Given the description of an element on the screen output the (x, y) to click on. 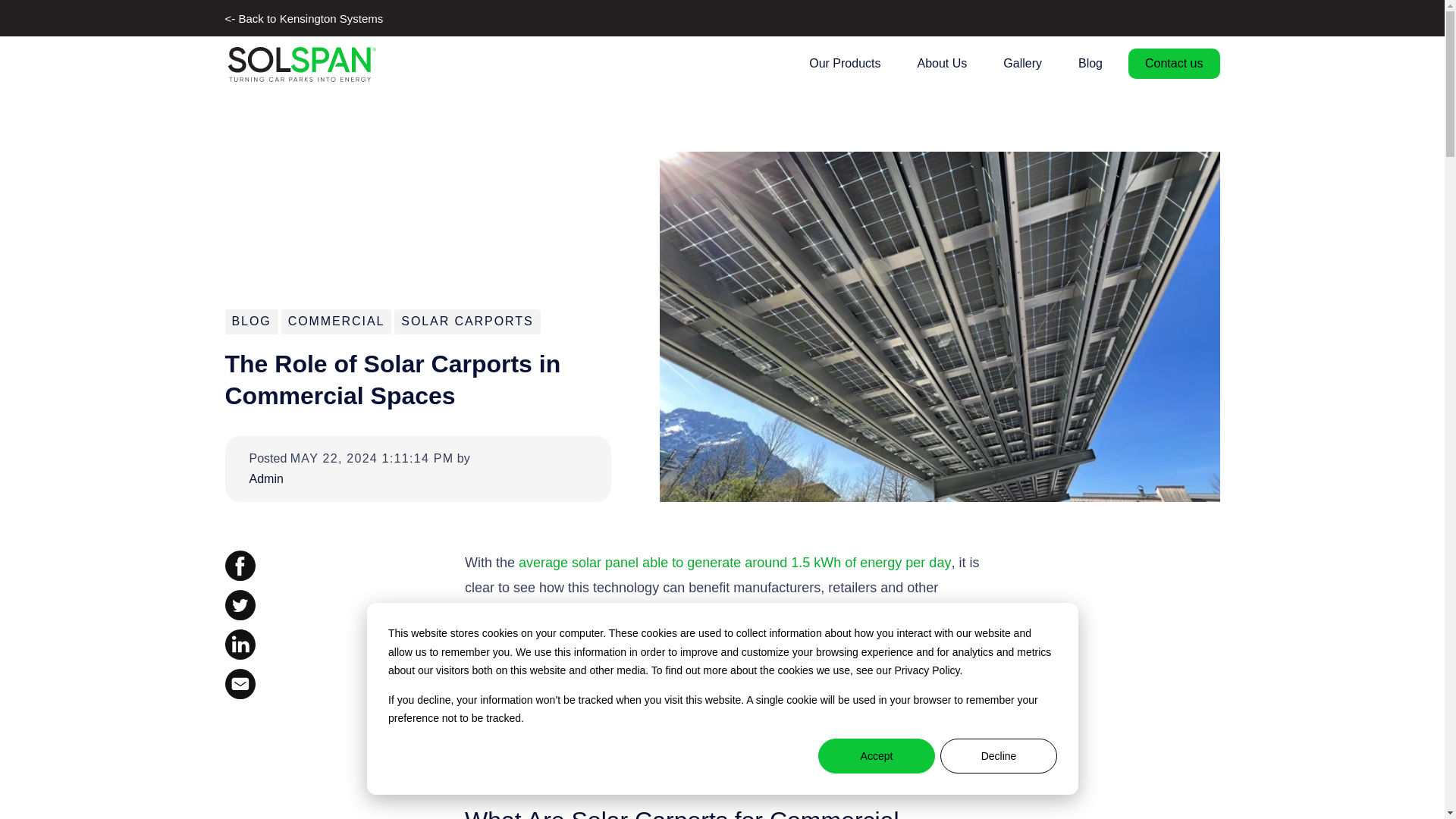
Contact us (1174, 62)
Our Products (844, 62)
Gallery (1022, 62)
Back to Kensington Systems (303, 18)
About Us (941, 62)
Admin (358, 478)
BLOG (250, 320)
SOLAR CARPORTS (466, 320)
solar carport (839, 705)
